Given the description of an element on the screen output the (x, y) to click on. 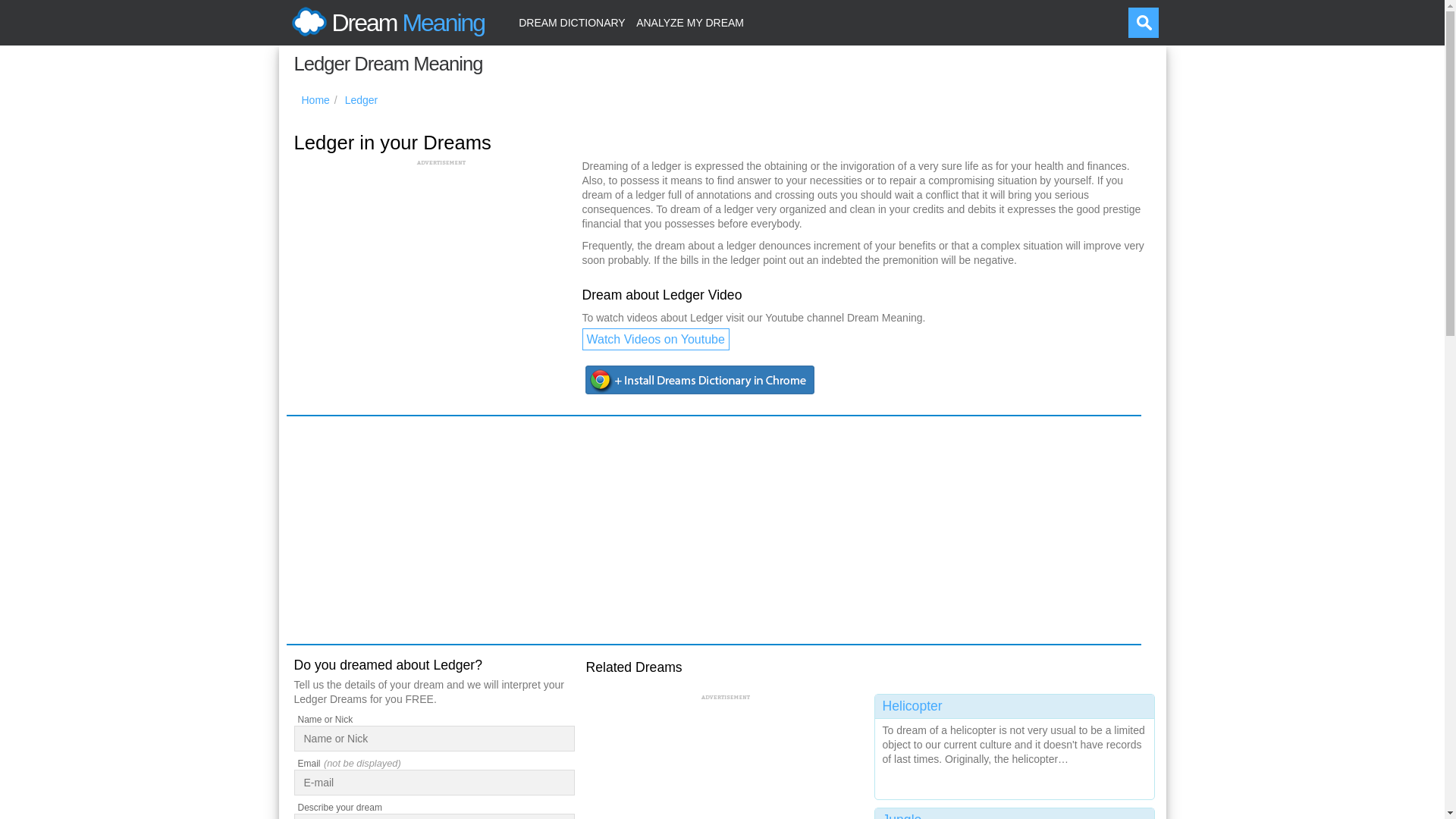
Dream Dictionary (572, 22)
Jungle Dream Meaning (1014, 813)
Dream Meaning (385, 22)
DREAM DICTIONARY (572, 22)
ANALYZE MY DREAM (690, 22)
Dreams Meanings, Symbols and Interpretations (315, 100)
Dreams Interpretation and Meaning (385, 22)
Helicopter Dream Meaning (1014, 743)
Analyze my Dream (690, 22)
Ledger Dreams Interpretations and Meanings Explained (361, 100)
Dream Meaning Videos (655, 339)
Watch Videos on Youtube (655, 339)
Home (315, 100)
Ledger (361, 100)
